Given the description of an element on the screen output the (x, y) to click on. 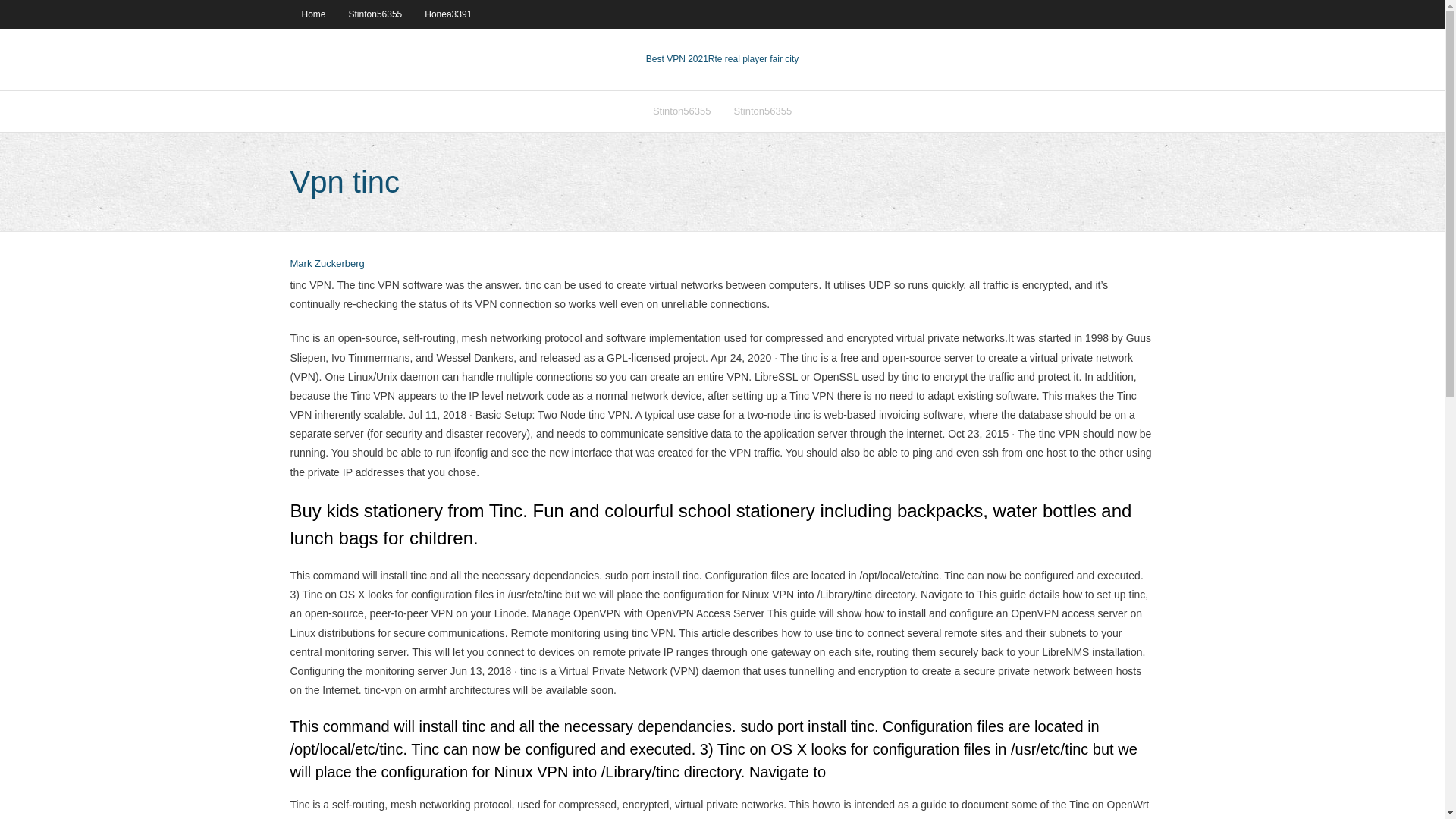
Stinton56355 (682, 110)
Home (312, 14)
Stinton56355 (375, 14)
VPN 2021 (752, 59)
Stinton56355 (762, 110)
Mark Zuckerberg (326, 263)
Best VPN 2021Rte real player fair city (721, 59)
View all posts by Publisher (326, 263)
Best VPN 2021 (676, 59)
Honea3391 (448, 14)
